Given the description of an element on the screen output the (x, y) to click on. 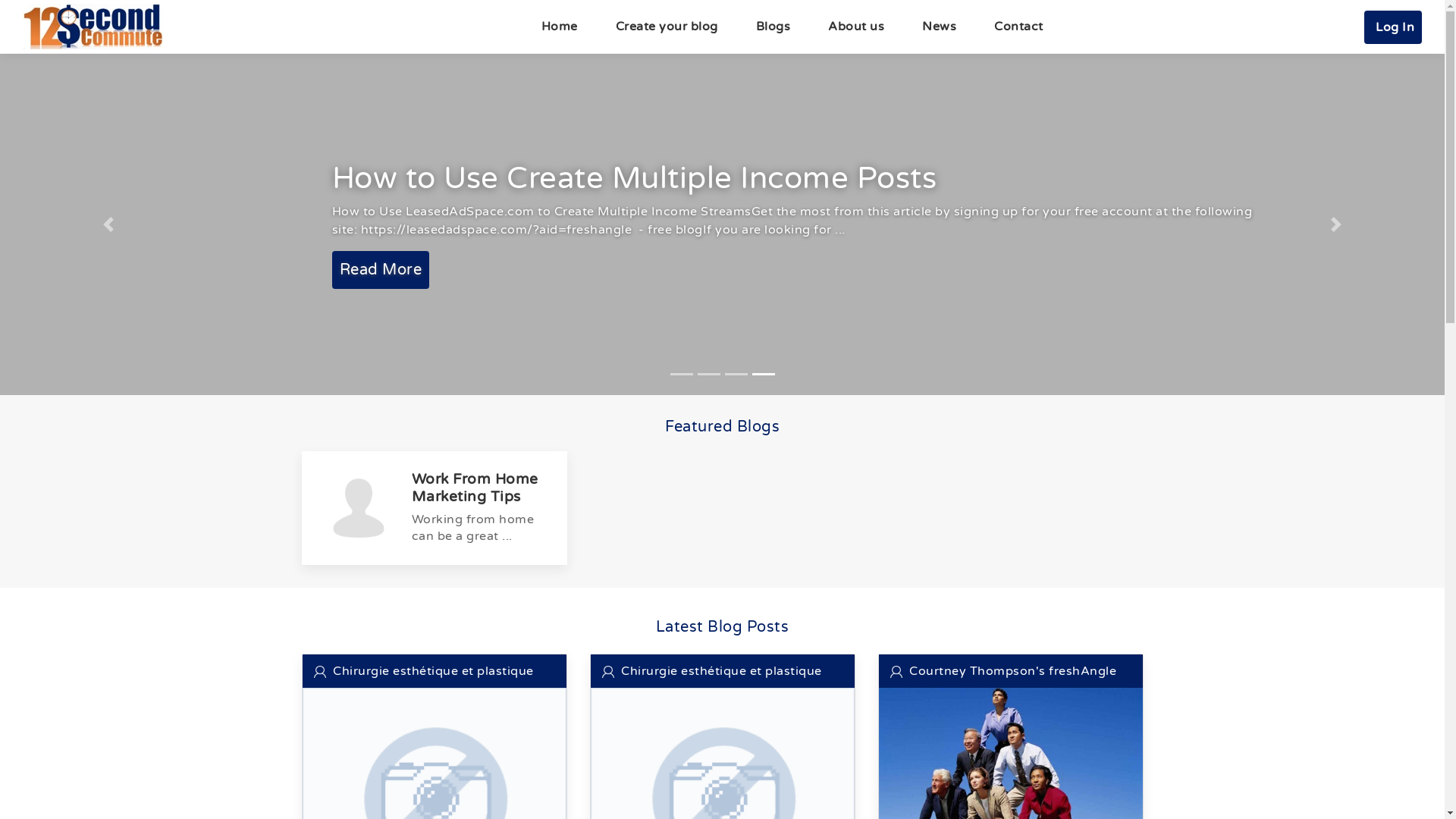
Contact Element type: text (1018, 26)
About us Element type: text (856, 26)
Log In Element type: text (1392, 26)
Courtney Thompson's freshAngle Element type: text (1003, 670)
Blogs Element type: text (773, 26)
News Element type: text (939, 26)
Create your blog Element type: text (666, 26)
Read More Element type: text (594, 269)
Previous Element type: text (108, 224)
Home Element type: text (558, 26)
Work From Home Marketing Tips Element type: text (474, 487)
Next Element type: text (1335, 224)
